Given the description of an element on the screen output the (x, y) to click on. 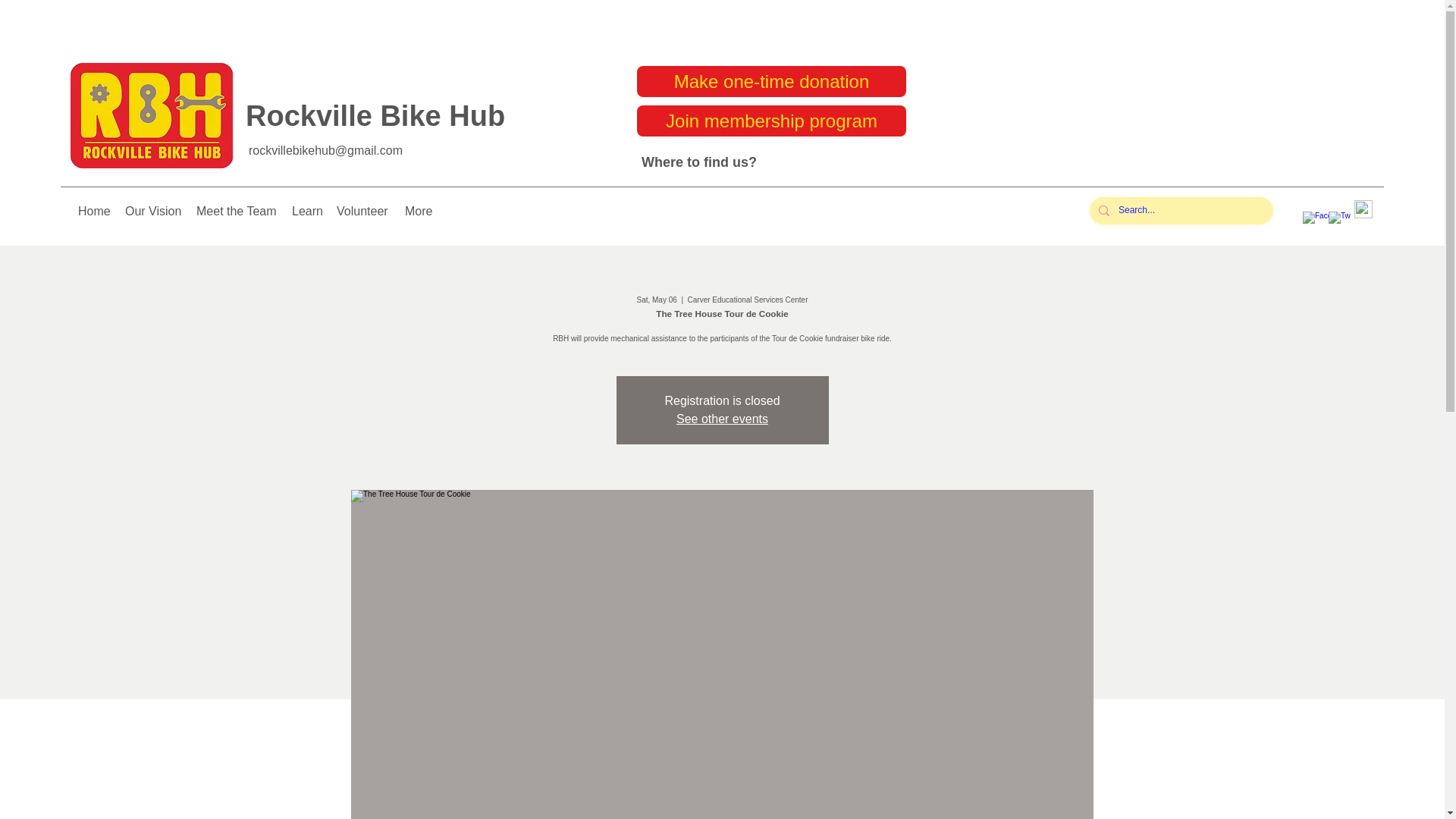
Join membership program (771, 120)
Volunteer (363, 210)
Home (93, 210)
Learn (306, 210)
See other events (722, 418)
Make one-time donation (771, 81)
Where to find us? (699, 161)
Our Vision (153, 210)
Meet the Team (236, 210)
Rockville Bike Hub (375, 115)
